Given the description of an element on the screen output the (x, y) to click on. 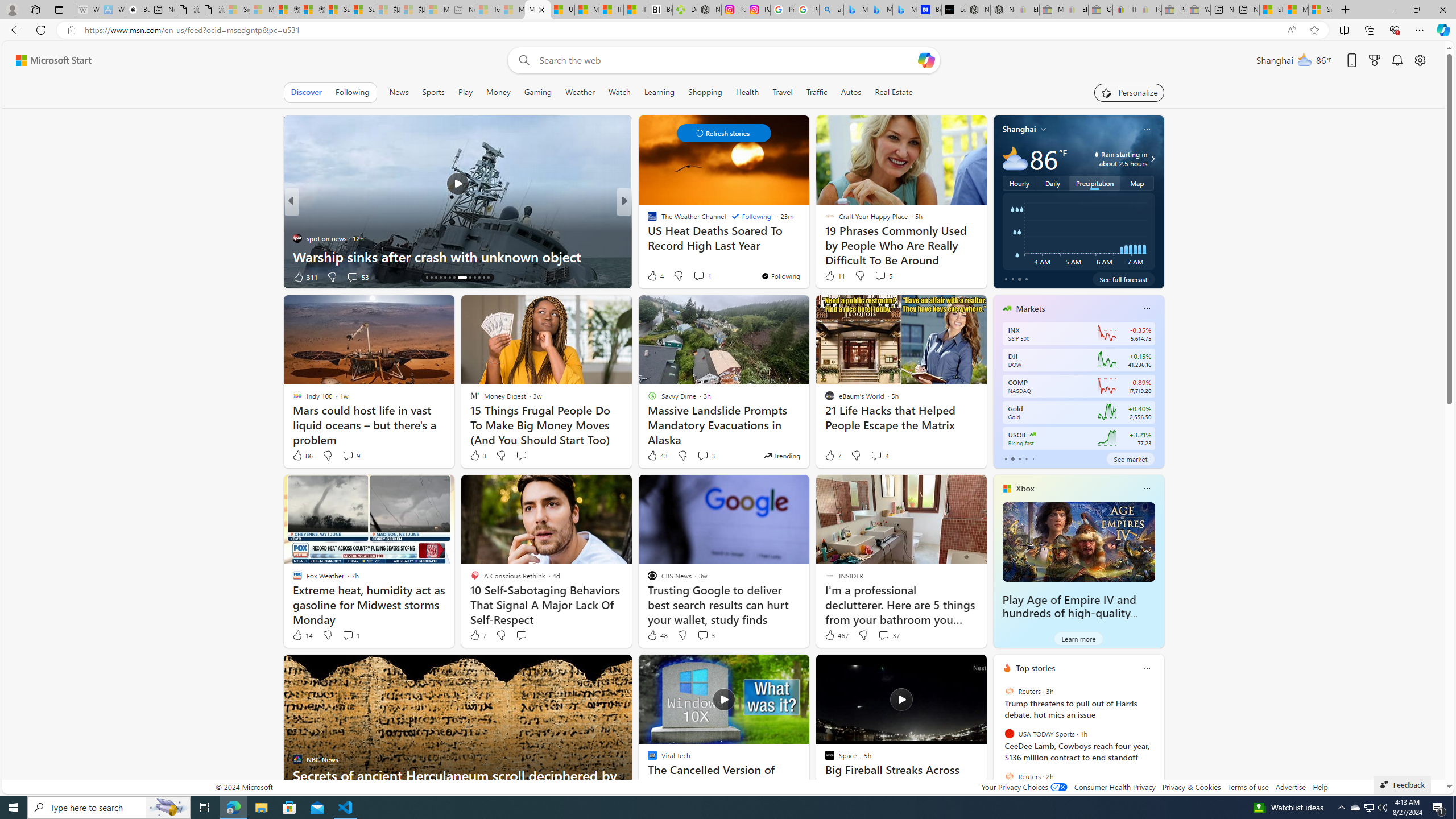
AutomationID: tab-15 (431, 277)
Class: weather-arrow-glyph (1152, 158)
tab-4 (1032, 458)
View comments 5 Comment (882, 275)
